Given the description of an element on the screen output the (x, y) to click on. 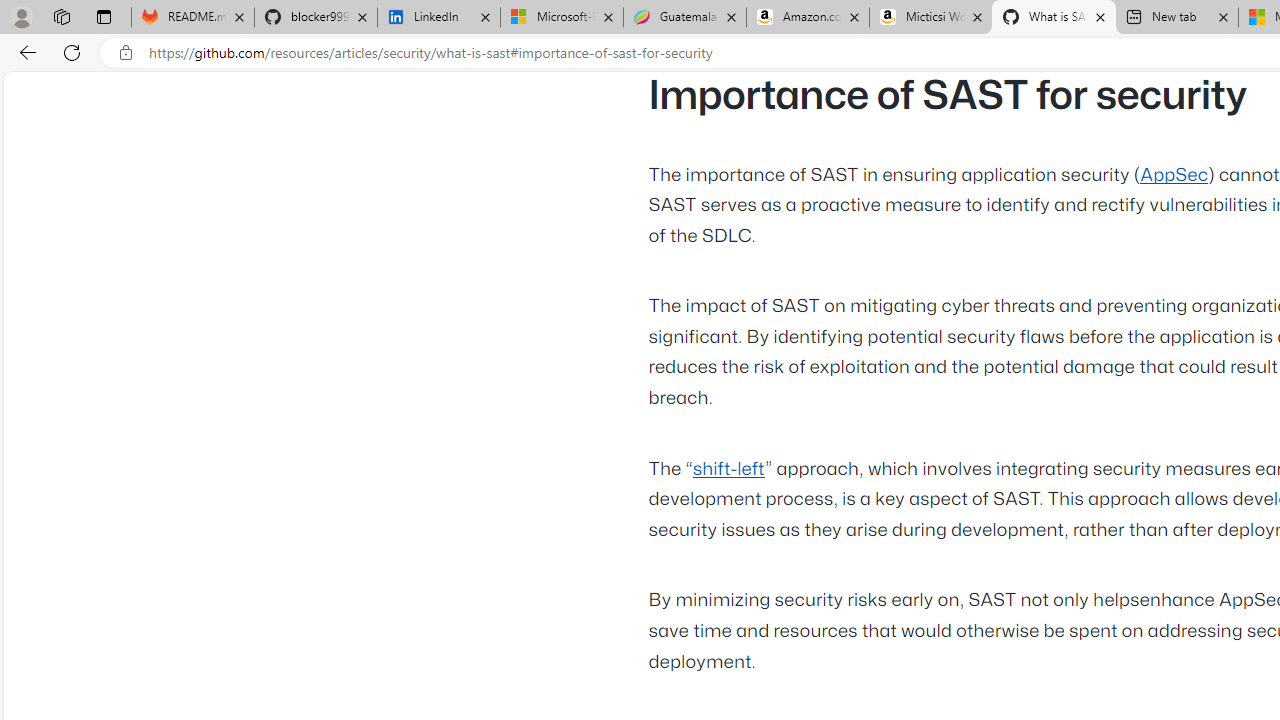
shift-left (728, 469)
